Given the description of an element on the screen output the (x, y) to click on. 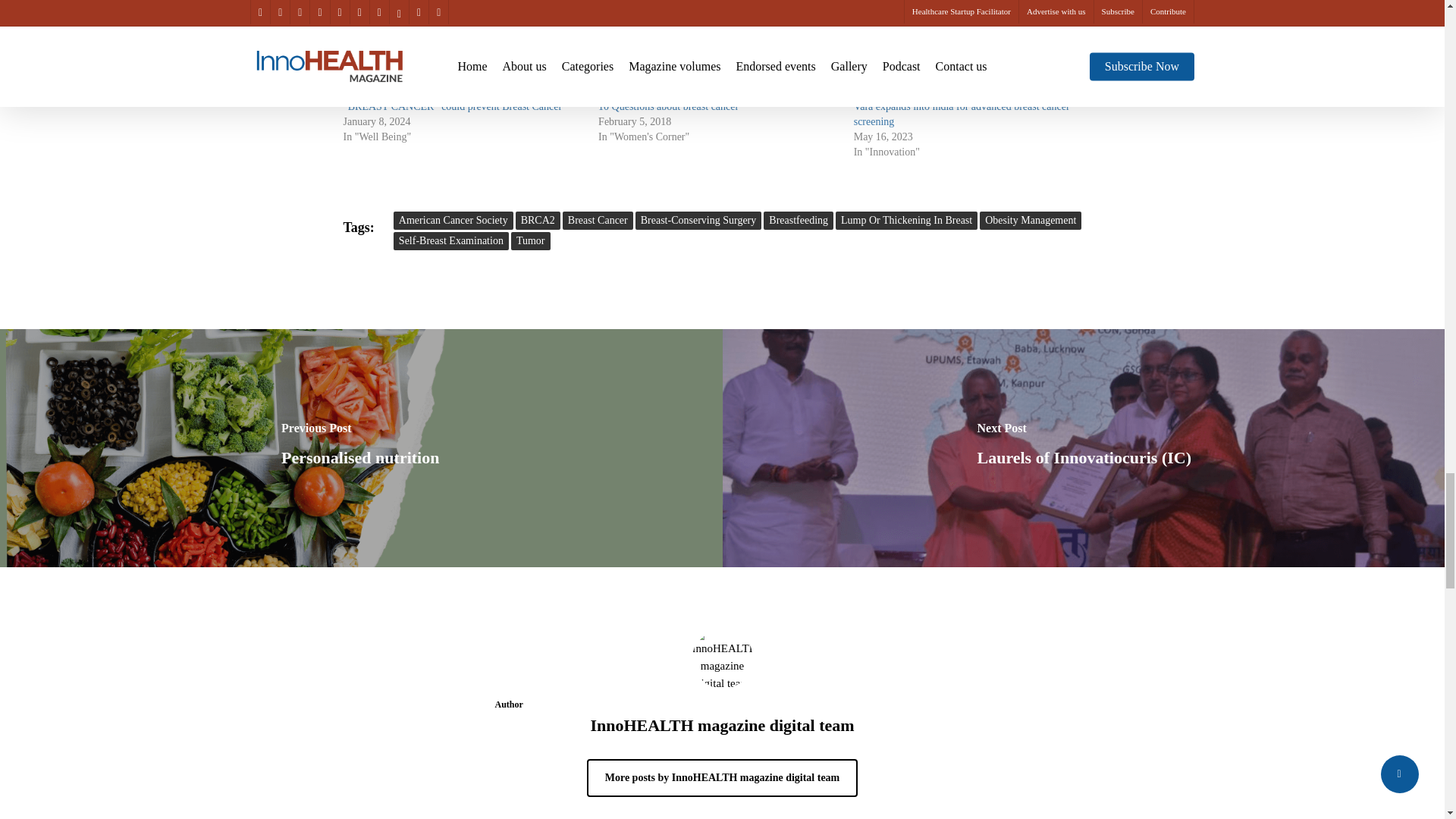
Vara expands into india for advanced breast cancer screening (961, 113)
Vara expands into india for advanced breast cancer screening (973, 43)
10 Questions about breast cancer (668, 106)
10 Questions about breast cancer (718, 43)
